Given the description of an element on the screen output the (x, y) to click on. 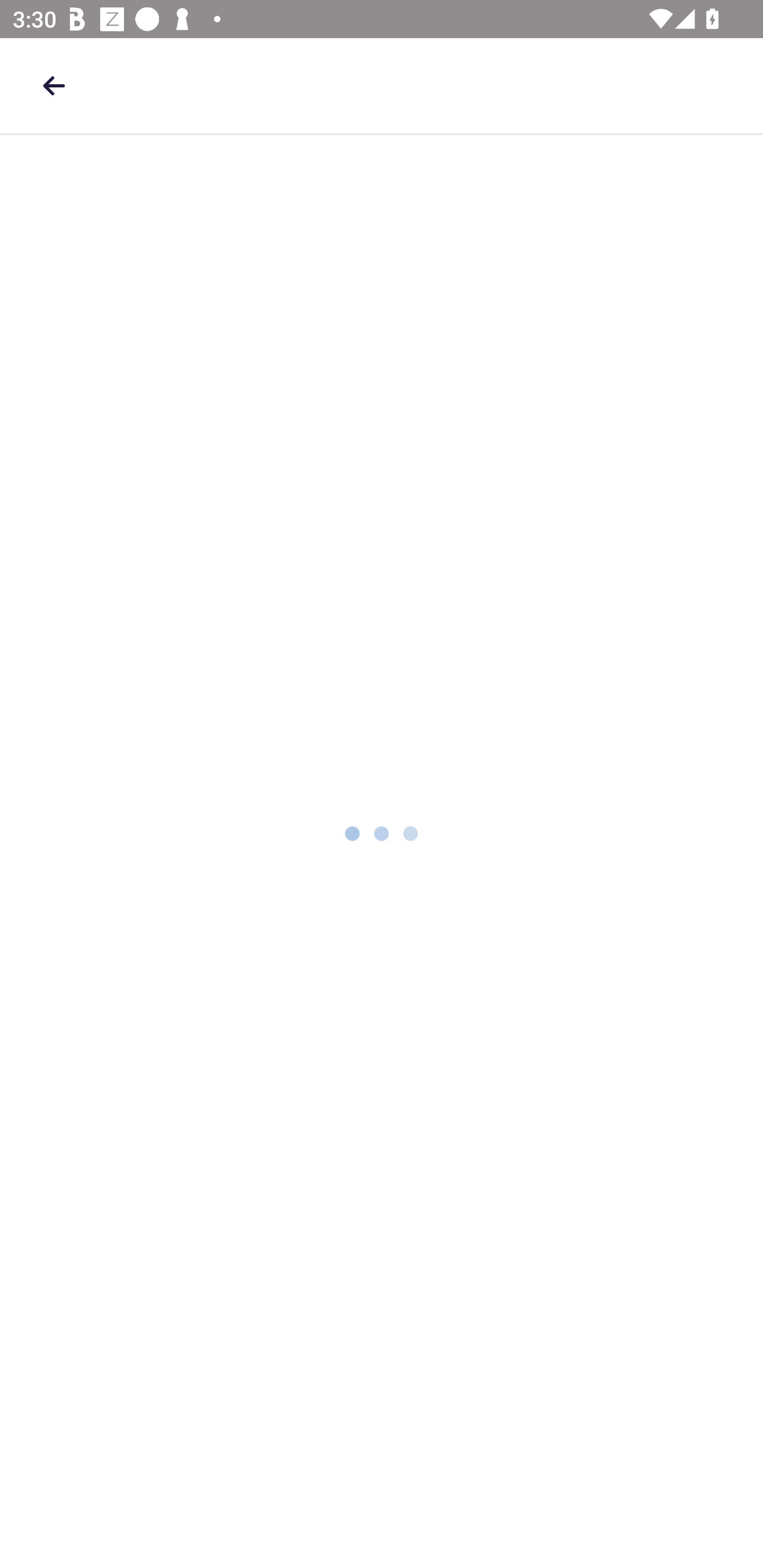
back button (53, 85)
